Given the description of an element on the screen output the (x, y) to click on. 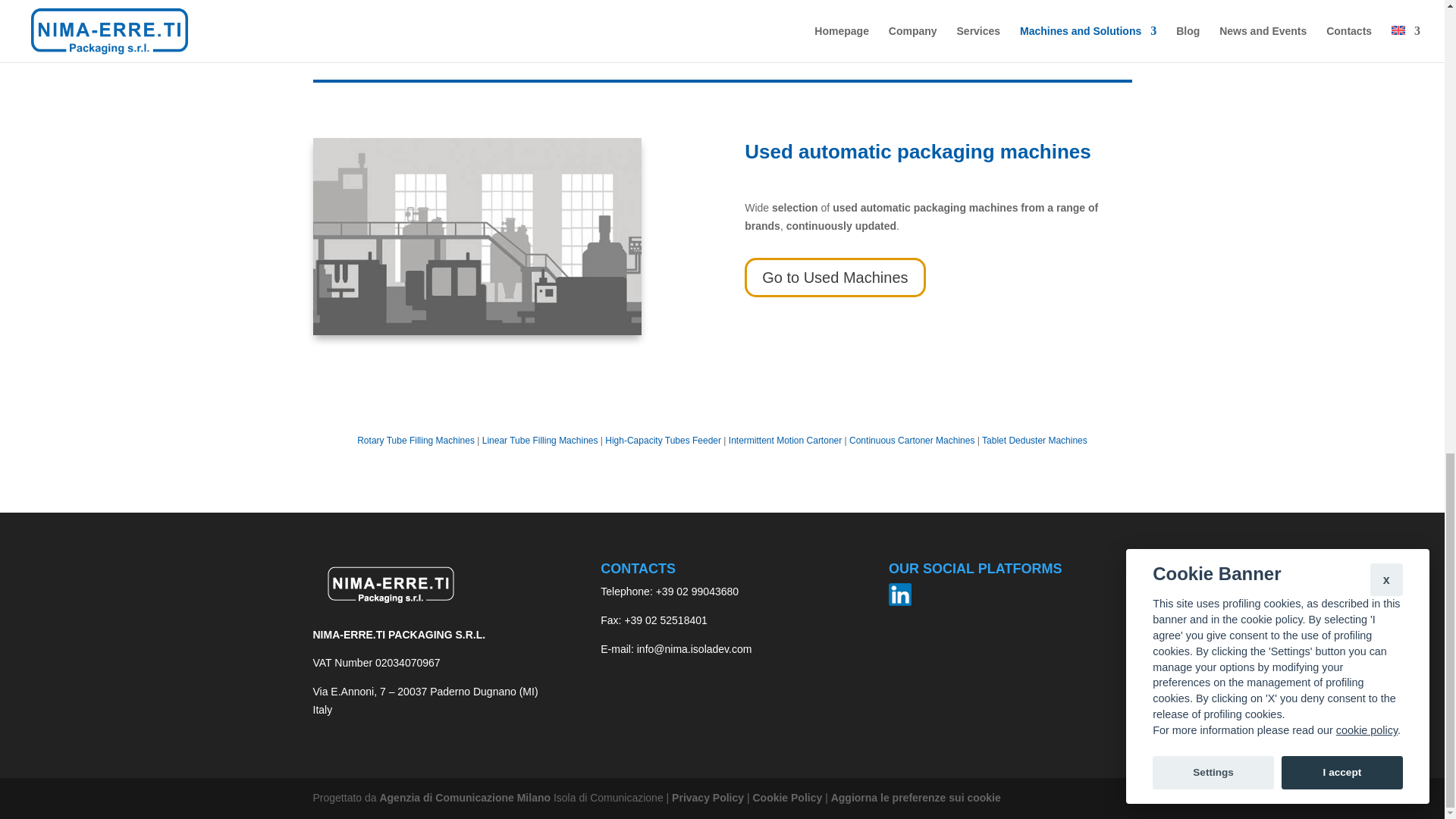
Go to Used Machines (834, 277)
Linear Tube Filling Machines (539, 439)
Agenzia di Comunicazione Milano (464, 797)
Rotary Tube Filling Machines (415, 439)
